Given the description of an element on the screen output the (x, y) to click on. 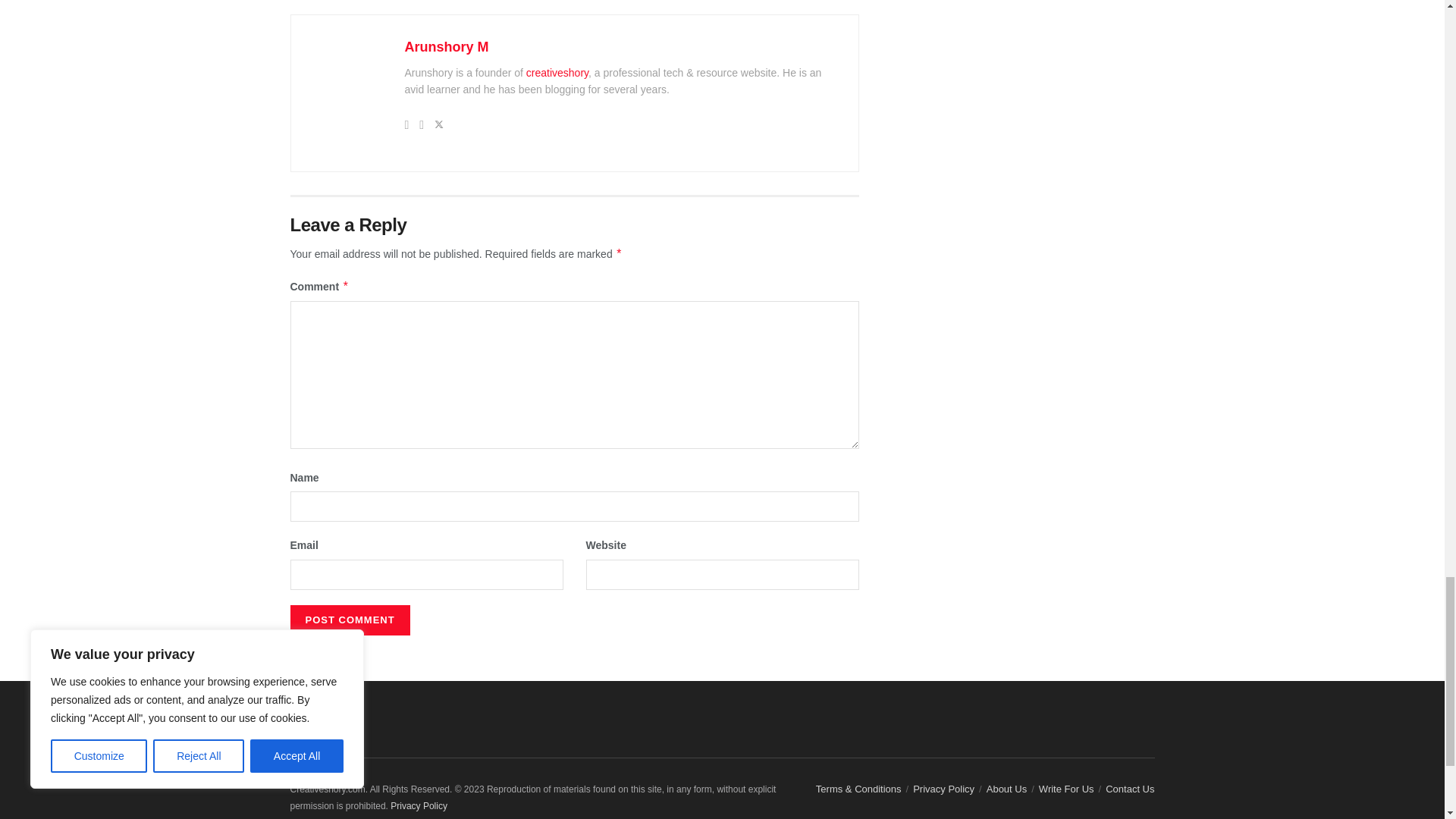
Post Comment (349, 620)
